Given the description of an element on the screen output the (x, y) to click on. 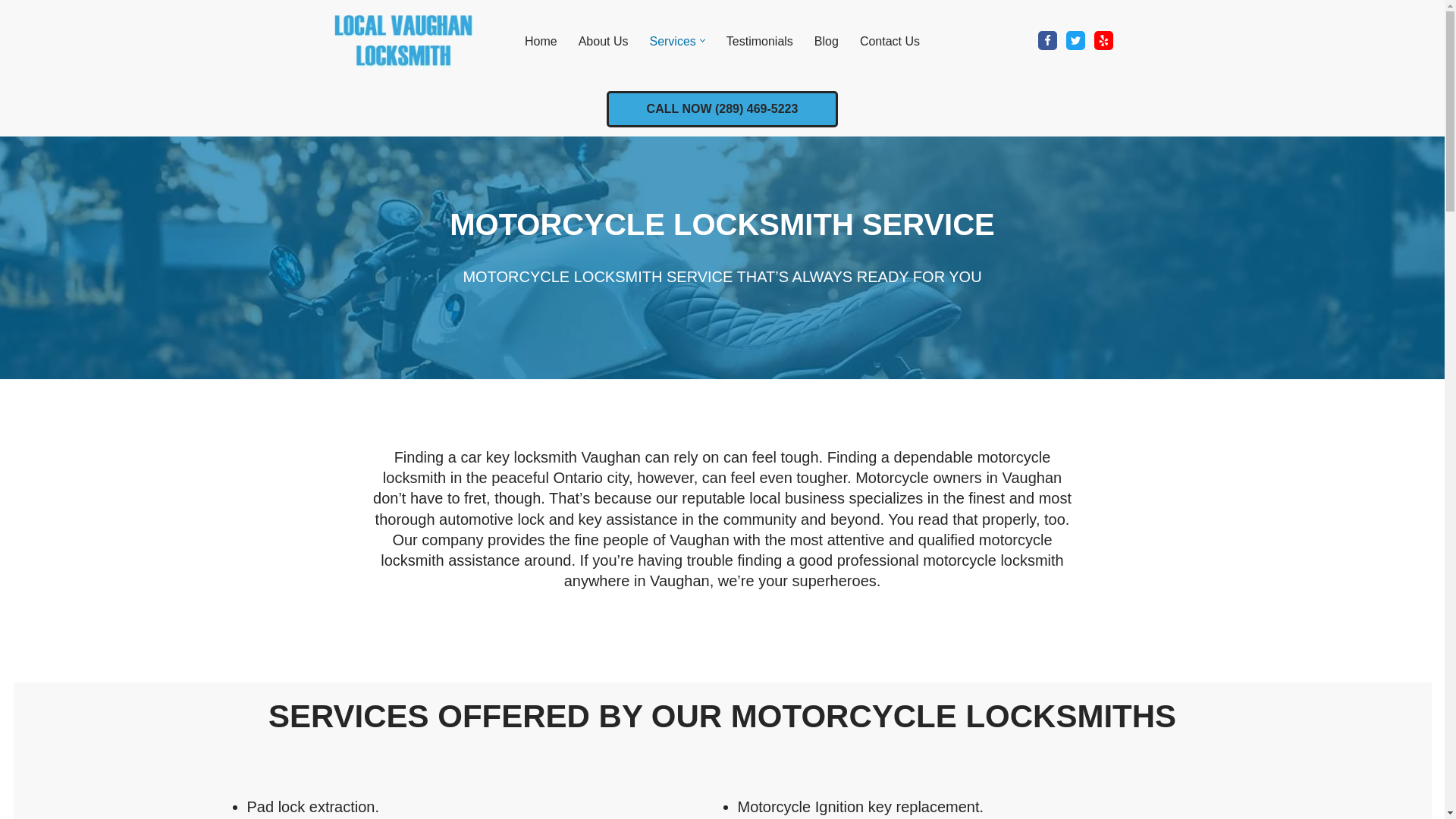
Contact Us (890, 41)
About Us (603, 41)
Skip to content (11, 31)
Yelp (1102, 40)
Services (672, 41)
Testimonials (759, 41)
Twitter (1074, 40)
Home (540, 41)
Blog (825, 41)
Facebook (1046, 40)
